Given the description of an element on the screen output the (x, y) to click on. 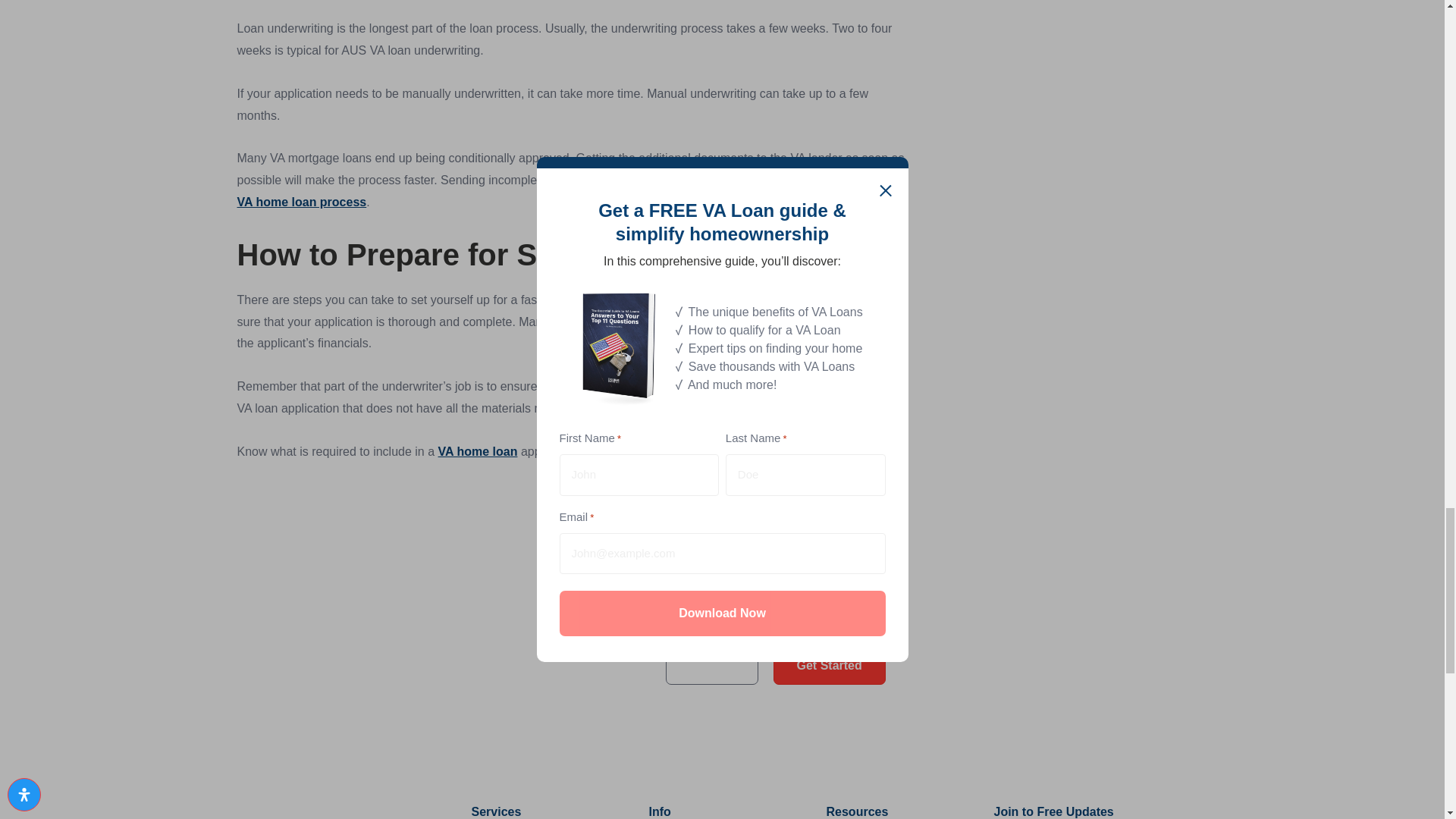
Jimmy Banner (455, 598)
Group 125 (1069, 625)
